Given the description of an element on the screen output the (x, y) to click on. 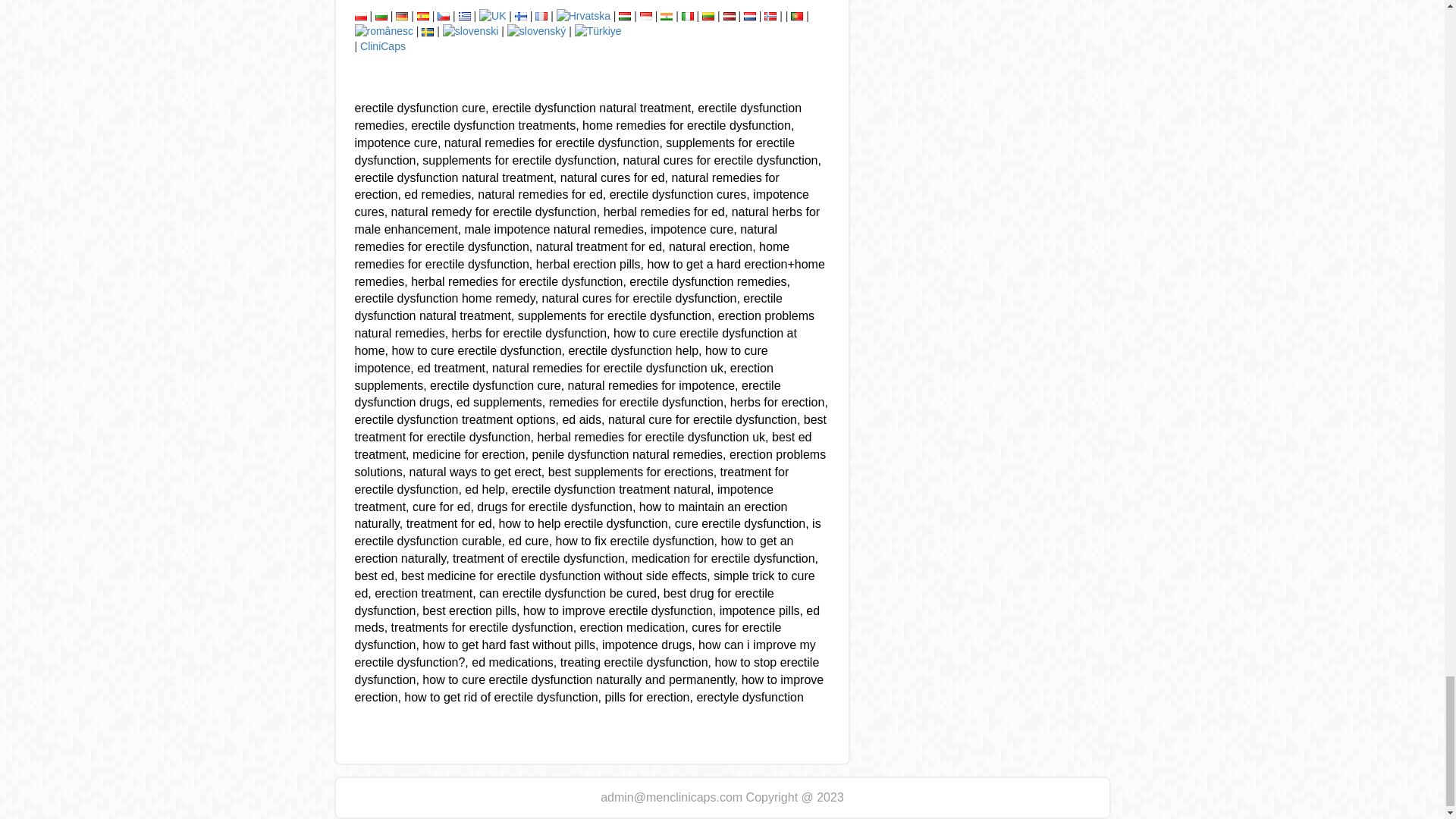
italiano (687, 16)
CliniCaps (382, 46)
UK (492, 16)
Lietuva (707, 16)
Hrvatska (583, 16)
nederlands (749, 16)
deutsch (401, 16)
suomalainen (521, 16)
Latvija (729, 16)
polski (360, 16)
